Given the description of an element on the screen output the (x, y) to click on. 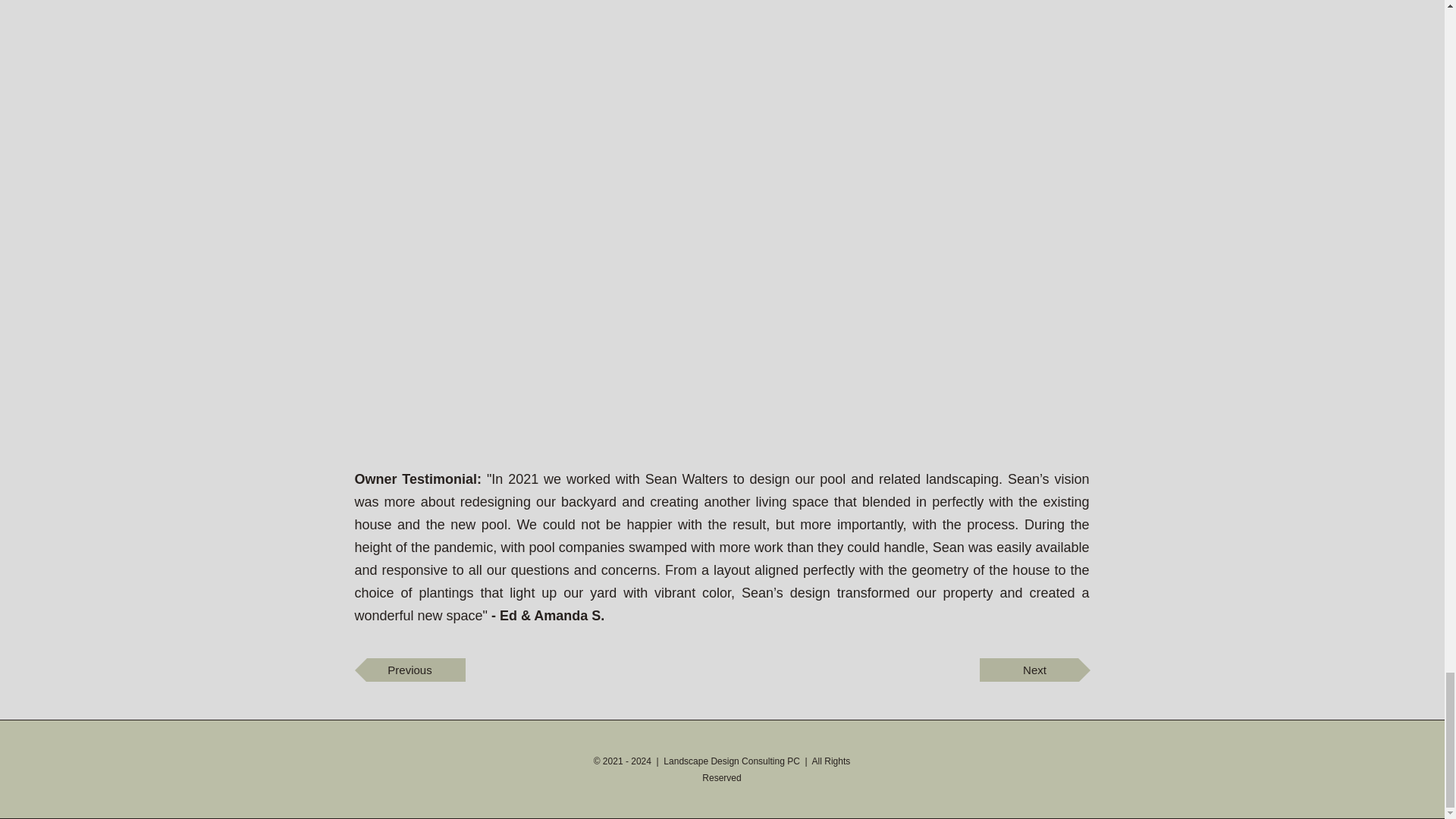
Next (1034, 669)
Previous (410, 669)
